Given the description of an element on the screen output the (x, y) to click on. 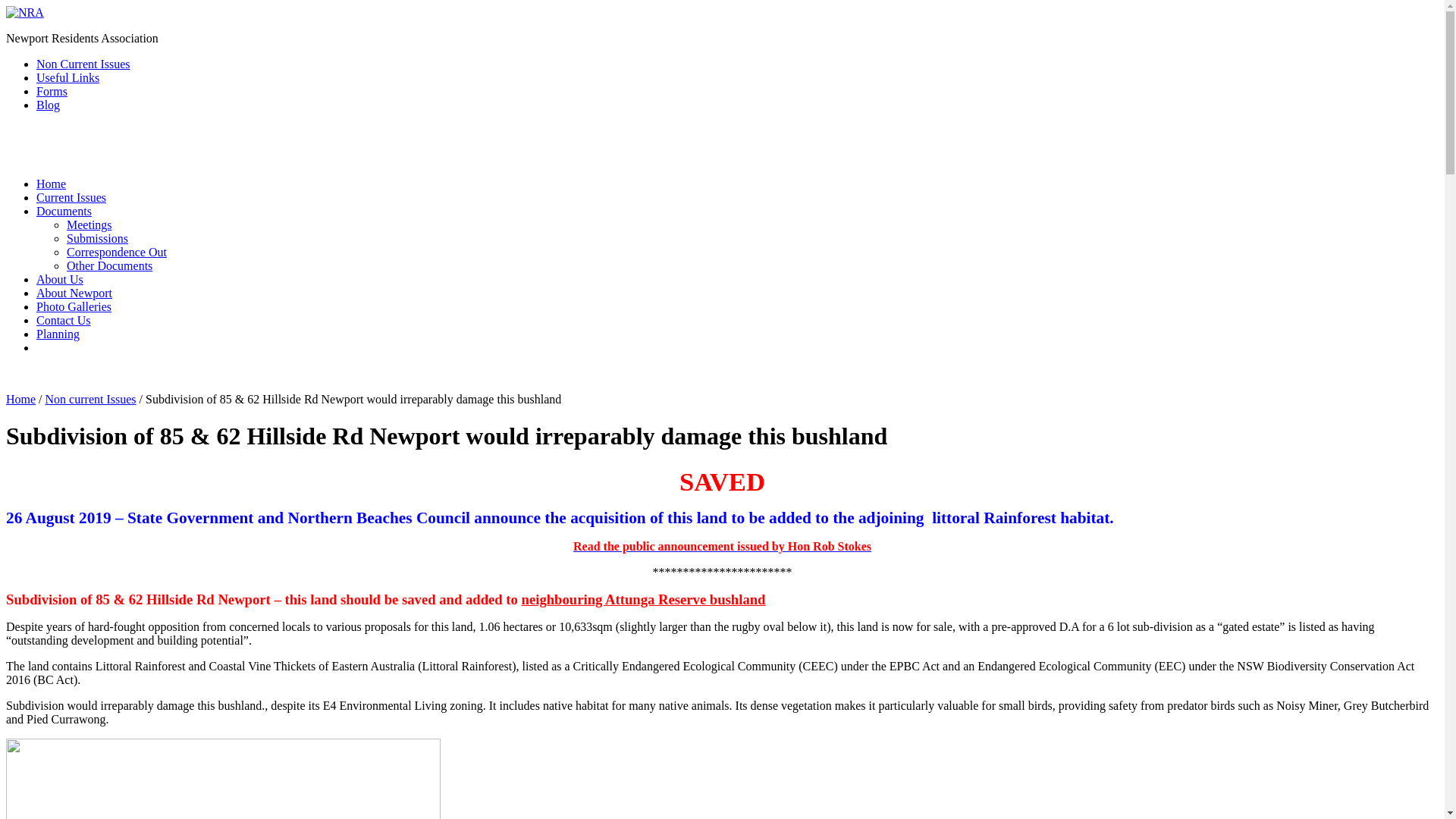
Planning Element type: text (57, 333)
Blog Element type: text (47, 104)
Current Issues Element type: text (71, 197)
Other Documents Element type: text (109, 265)
Meetings Element type: text (89, 224)
Documents Element type: text (63, 210)
Newport Residents Association Element type: hover (24, 12)
About Newport Element type: text (74, 292)
Non Current Issues Element type: text (83, 63)
Non current Issues Element type: text (90, 398)
Read the public announcement issued by Hon Rob Stokes Element type: text (722, 545)
Contact Us Element type: text (63, 319)
Home Element type: text (50, 183)
About Us Element type: text (59, 279)
Useful Links Element type: text (67, 77)
Correspondence Out Element type: text (116, 251)
Photo Galleries Element type: text (73, 306)
Submissions Element type: text (97, 238)
Forms Element type: text (51, 90)
Home Element type: text (20, 398)
